Given the description of an element on the screen output the (x, y) to click on. 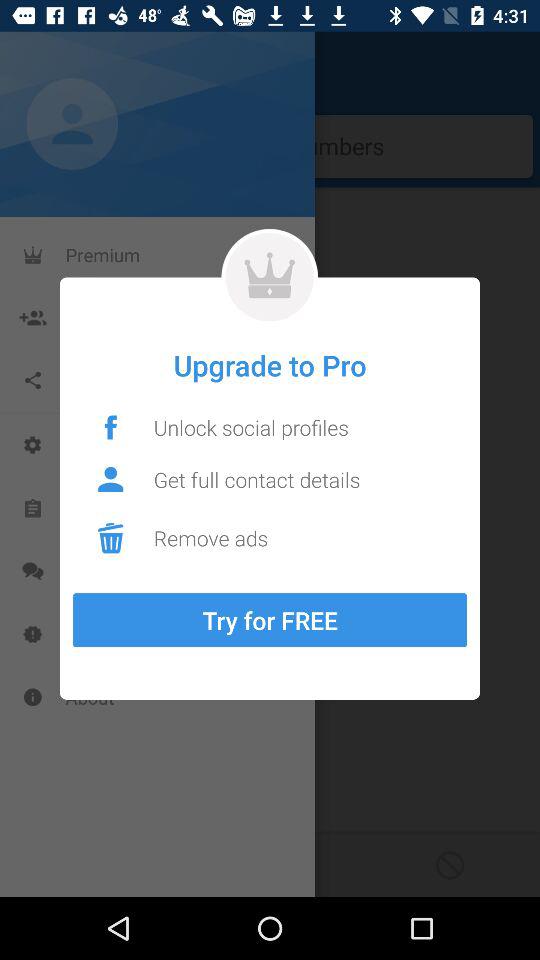
launch try for free (269, 620)
